Given the description of an element on the screen output the (x, y) to click on. 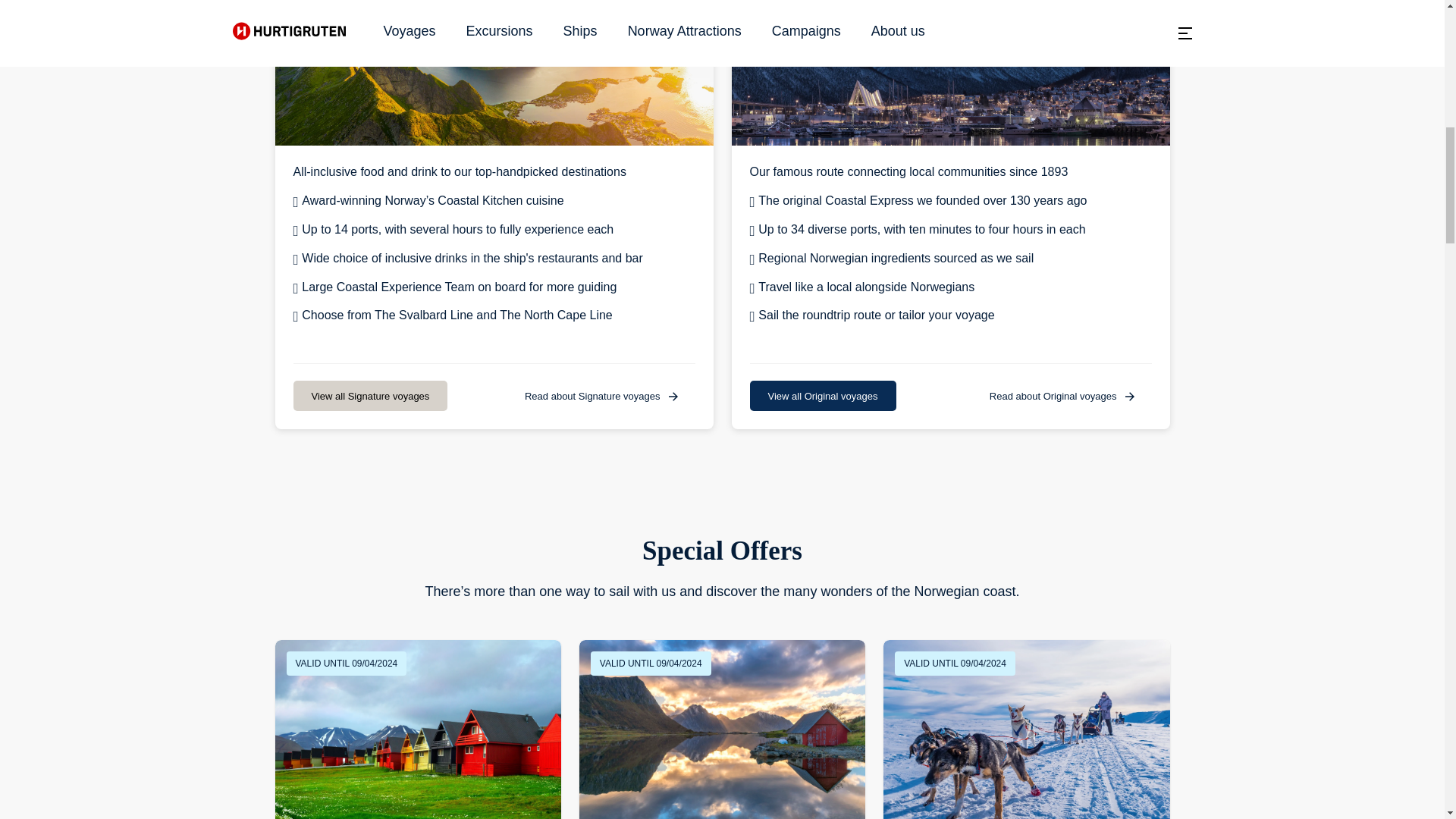
Read about Original voyages (1063, 395)
Read about Signature voyages (601, 395)
View all Signature voyages (369, 395)
View all Original voyages (822, 395)
